Given the description of an element on the screen output the (x, y) to click on. 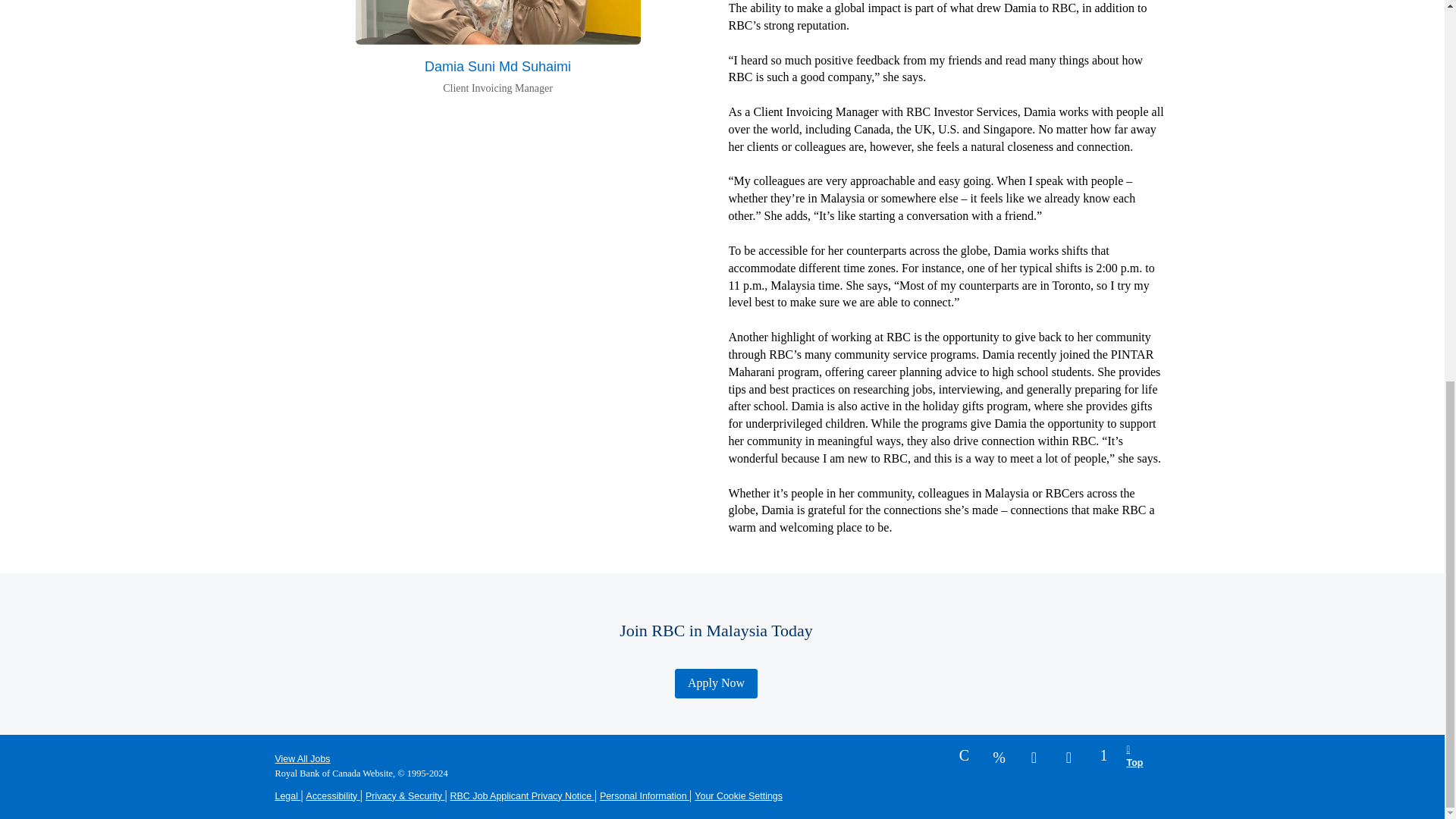
Visit RBC Youtube page (1069, 754)
RBC careers in You Tube (1069, 754)
RBC careers in Twitter (1034, 754)
Apply Now (716, 683)
Personal Information (643, 796)
View All Jobs (302, 758)
Visit RBC facebook page (964, 754)
Visit RBC Linkedin page (1104, 754)
Legal (287, 796)
Visit RBC Twitter page (1034, 754)
RBC careers in Instagram (999, 754)
RBC Job Applicant Privacy Notice (521, 796)
Your Cookie Settings (738, 796)
Accessibility (332, 796)
RBC careers in Facebook (964, 754)
